Given the description of an element on the screen output the (x, y) to click on. 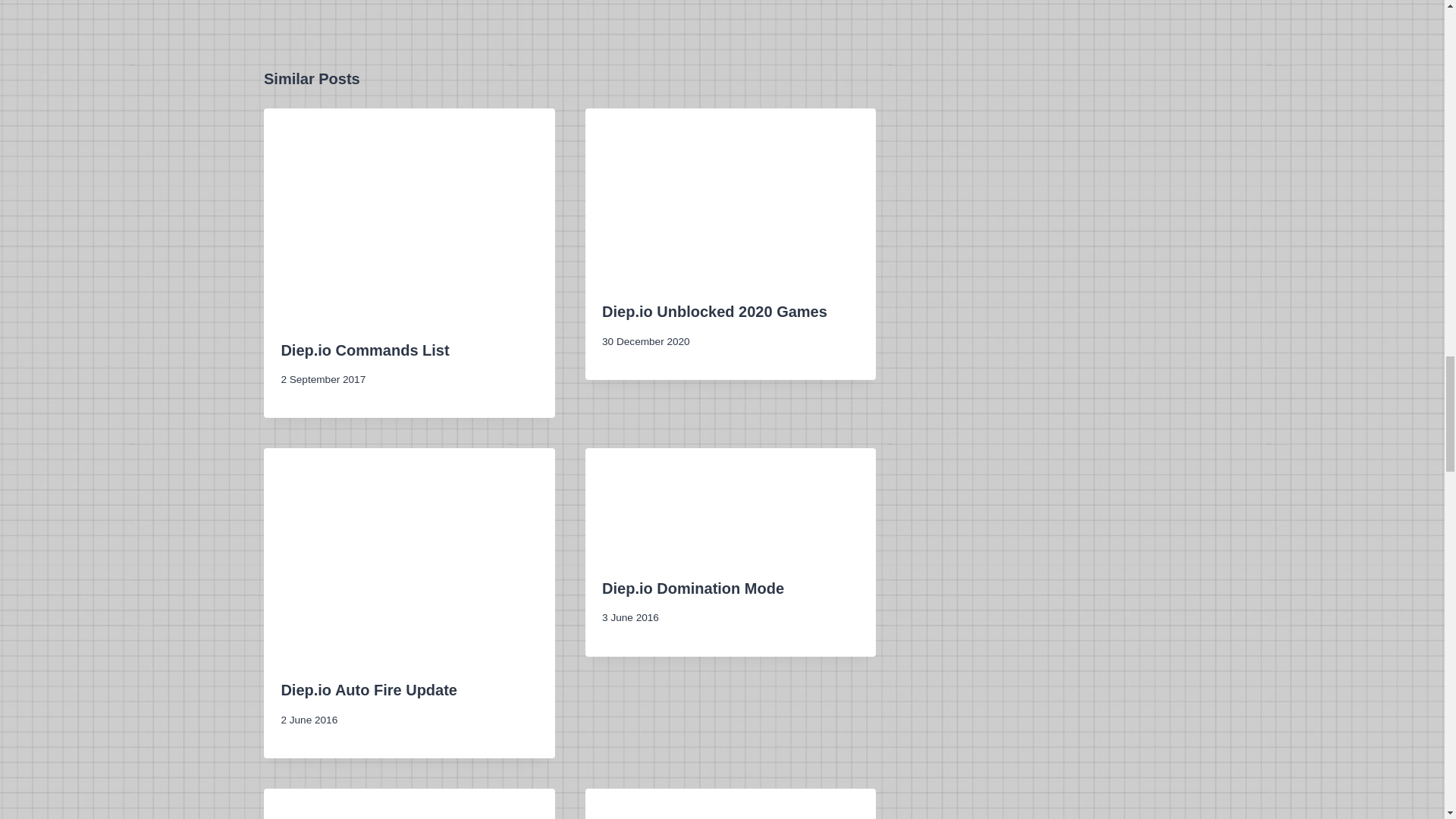
Diep.io Unblocked 2020 Games (714, 311)
Diep.io Domination Mode (693, 588)
Diep.io Auto Fire Update (369, 689)
Diep.io Commands List (364, 350)
